Given the description of an element on the screen output the (x, y) to click on. 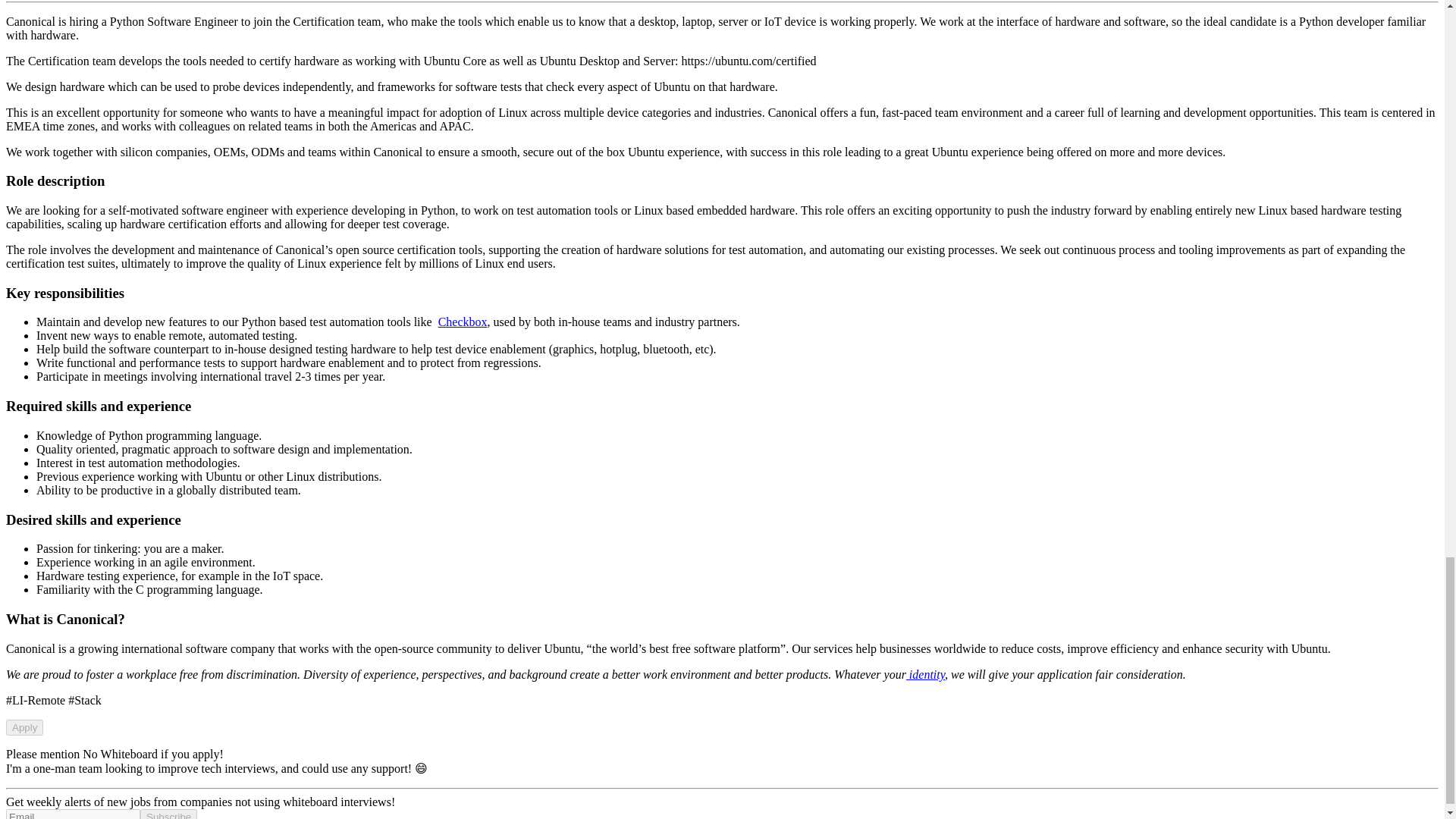
Apply (24, 726)
Checkbox (462, 321)
identity (924, 674)
Apply (24, 727)
